Given the description of an element on the screen output the (x, y) to click on. 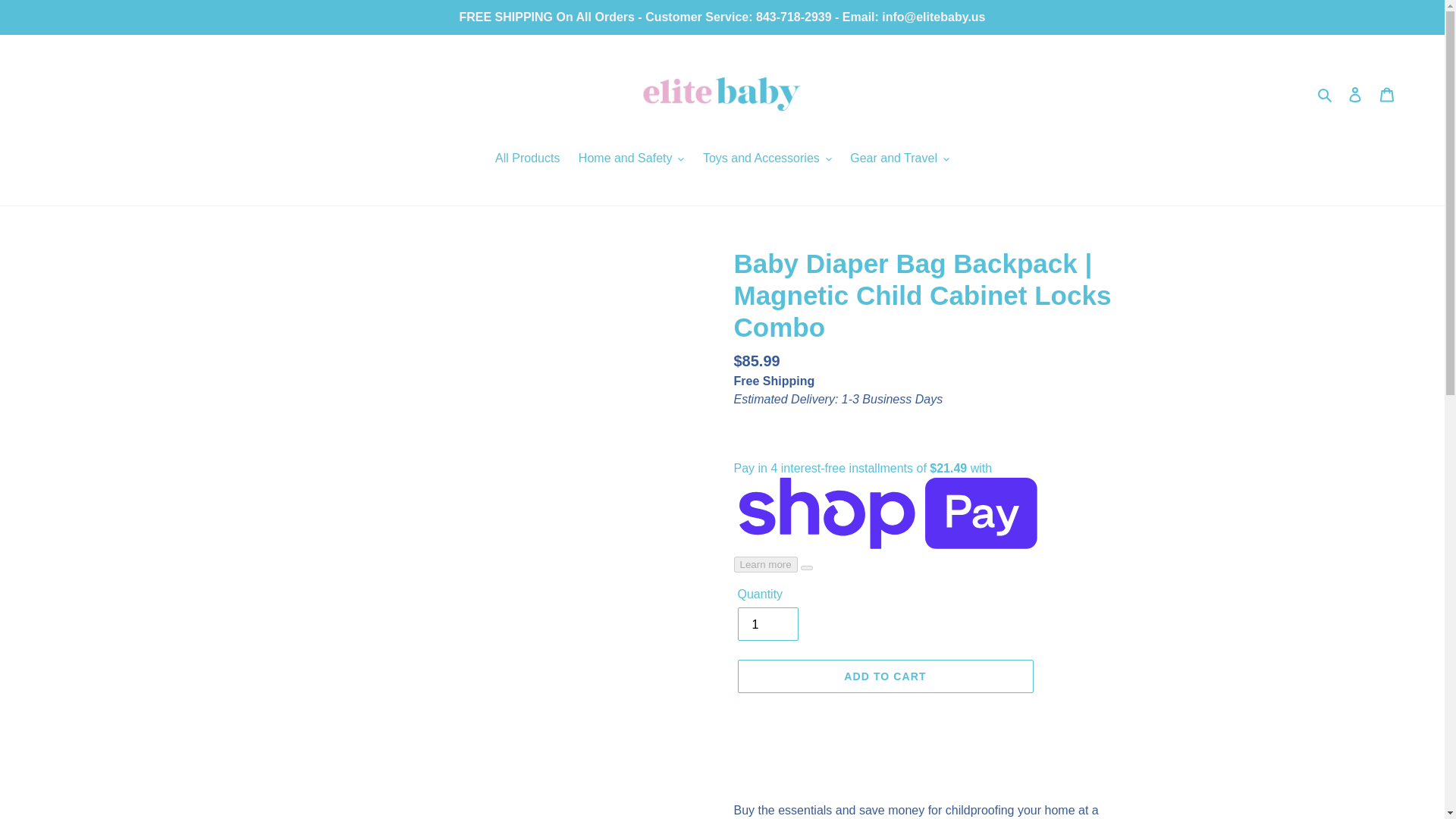
Cart (1387, 93)
Log in (1355, 93)
1 (766, 623)
Search (1326, 94)
